Given the description of an element on the screen output the (x, y) to click on. 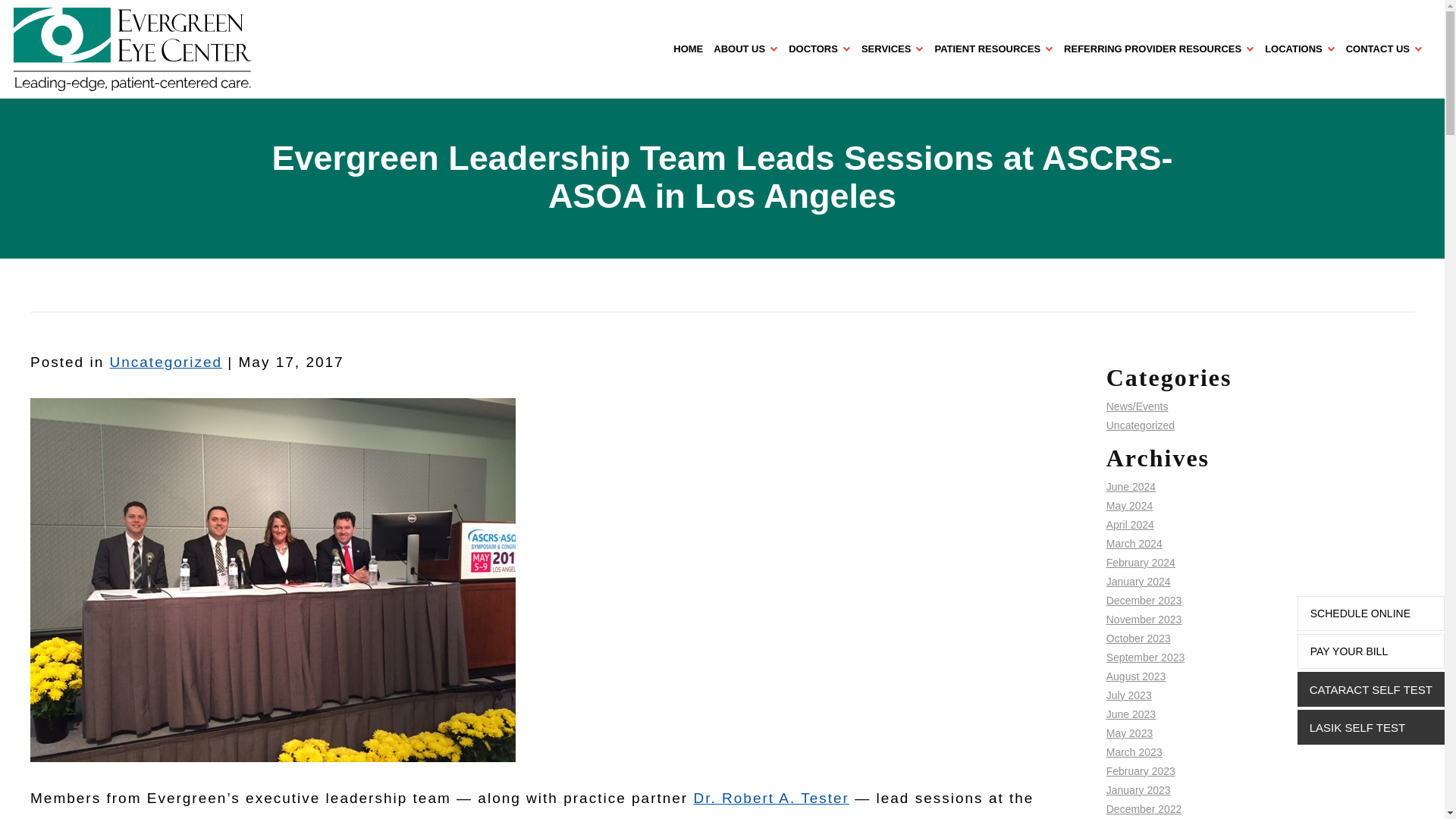
About Us (751, 48)
ABOUT US (751, 48)
Home (692, 48)
Evergreen Eye Center (132, 48)
SERVICES (897, 48)
Doctors (825, 48)
HOME (692, 48)
DOCTORS (825, 48)
Evergreen Eye Center - Home Page (341, 48)
